Given the description of an element on the screen output the (x, y) to click on. 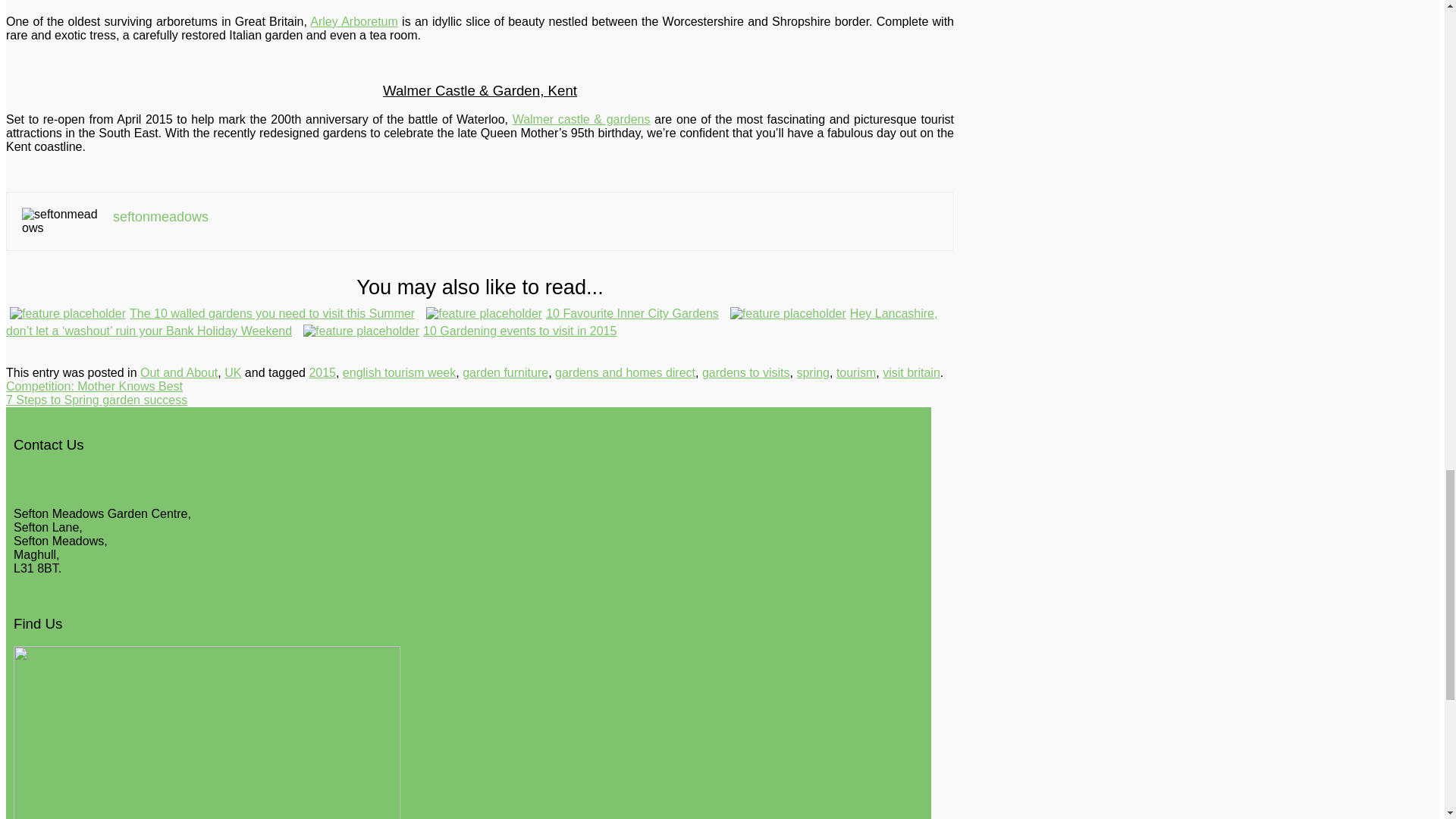
Arley Arboretum (353, 21)
10 Gardening events to visit in 2015 (461, 331)
10 Favourite Inner City Gardens (574, 313)
10 Gardening events to visit in 2015 (461, 331)
seftonmeadows (160, 216)
The 10 walled gardens you need to visit this Summer (213, 313)
The 10 walled gardens you need to visit this Summer (213, 313)
10 Favourite Inner City Gardens (574, 313)
